Given the description of an element on the screen output the (x, y) to click on. 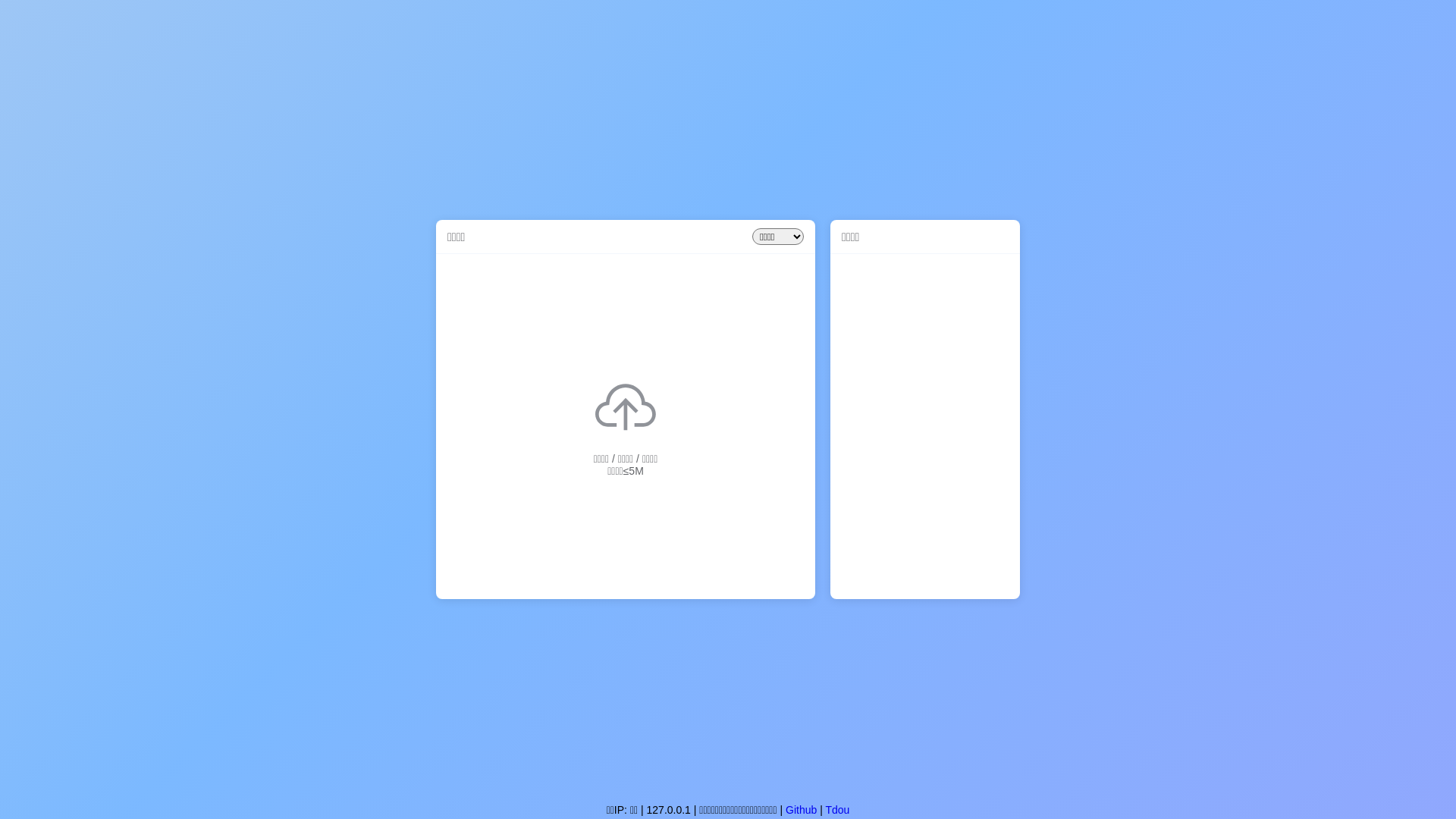
Github Element type: text (800, 809)
Tdou Element type: text (837, 809)
